Given the description of an element on the screen output the (x, y) to click on. 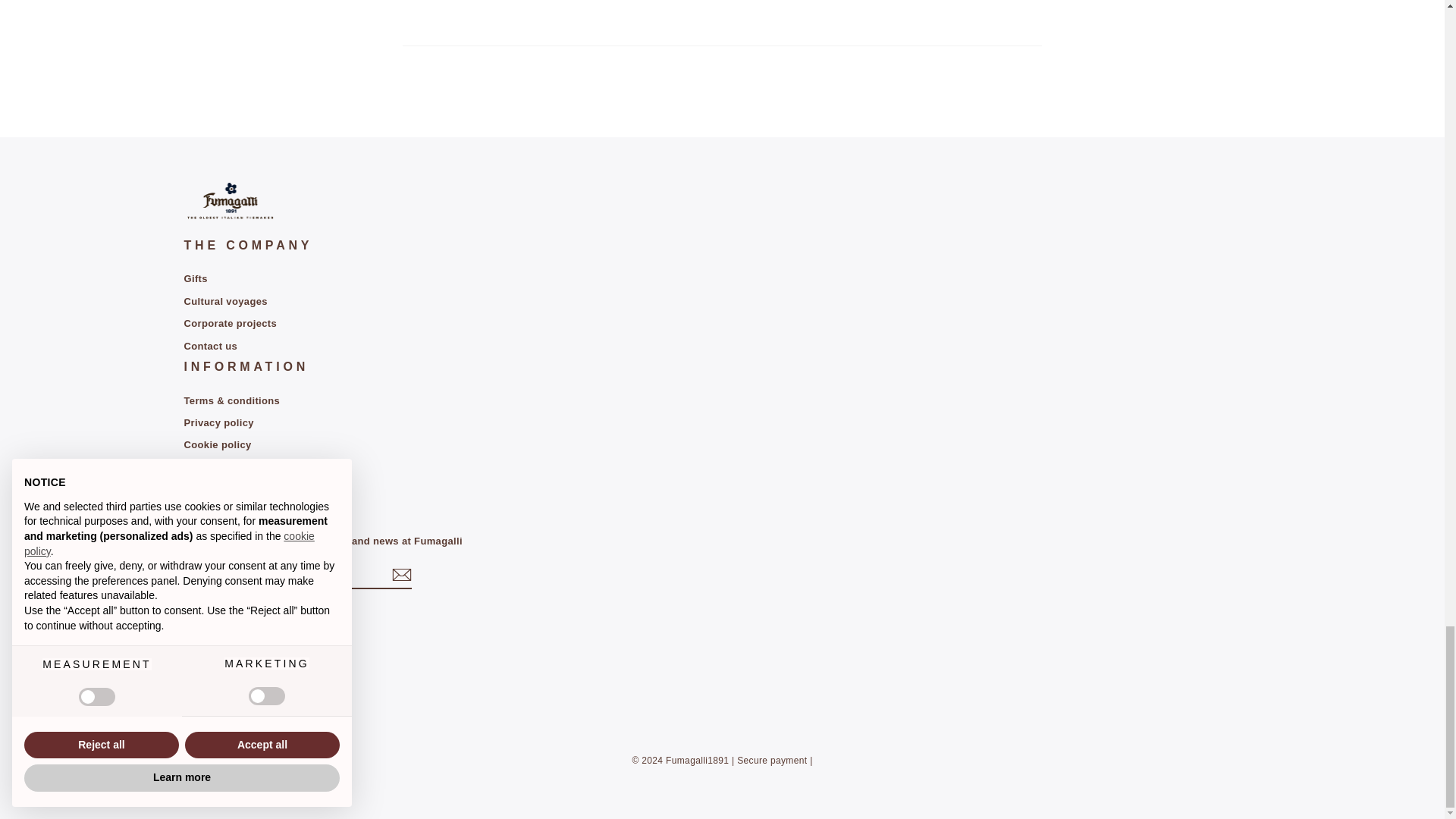
Fumagalli1891 on Instagram (192, 620)
